Given the description of an element on the screen output the (x, y) to click on. 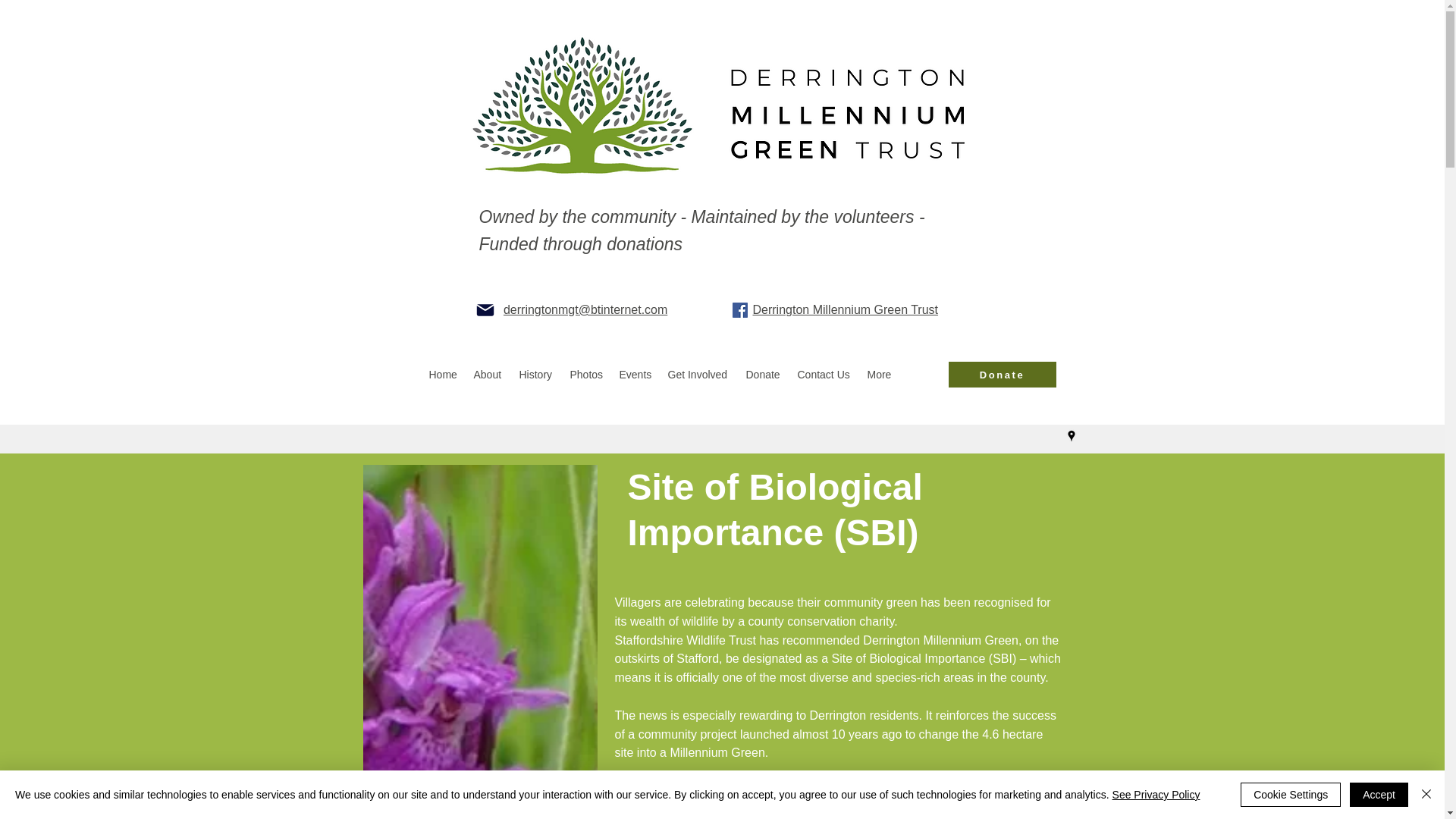
Photos (586, 374)
Get Involved (698, 374)
Contact Us (825, 374)
History (536, 374)
Derrington Millennium Green Trust (844, 309)
Home (443, 374)
Donate (764, 374)
DMGT LOGO horizontal .png (722, 119)
About (488, 374)
Donate (1001, 374)
Events (635, 374)
